Given the description of an element on the screen output the (x, y) to click on. 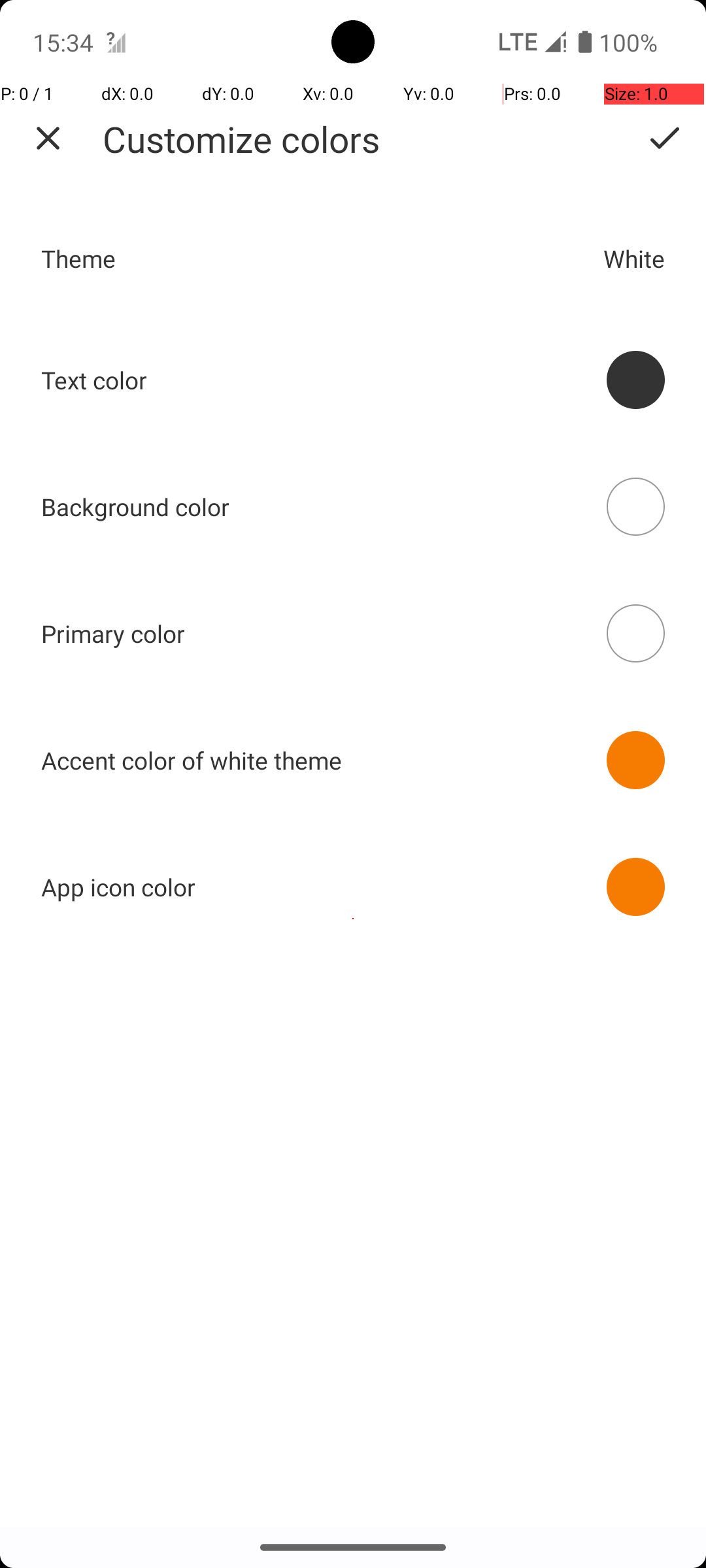
White Element type: android.widget.TextView (633, 258)
Text color Element type: android.widget.TextView (94, 379)
Background color Element type: android.widget.TextView (135, 506)
Primary color Element type: android.widget.TextView (113, 633)
Accent color of white theme Element type: android.widget.TextView (191, 759)
App icon color Element type: android.widget.TextView (118, 886)
